Given the description of an element on the screen output the (x, y) to click on. 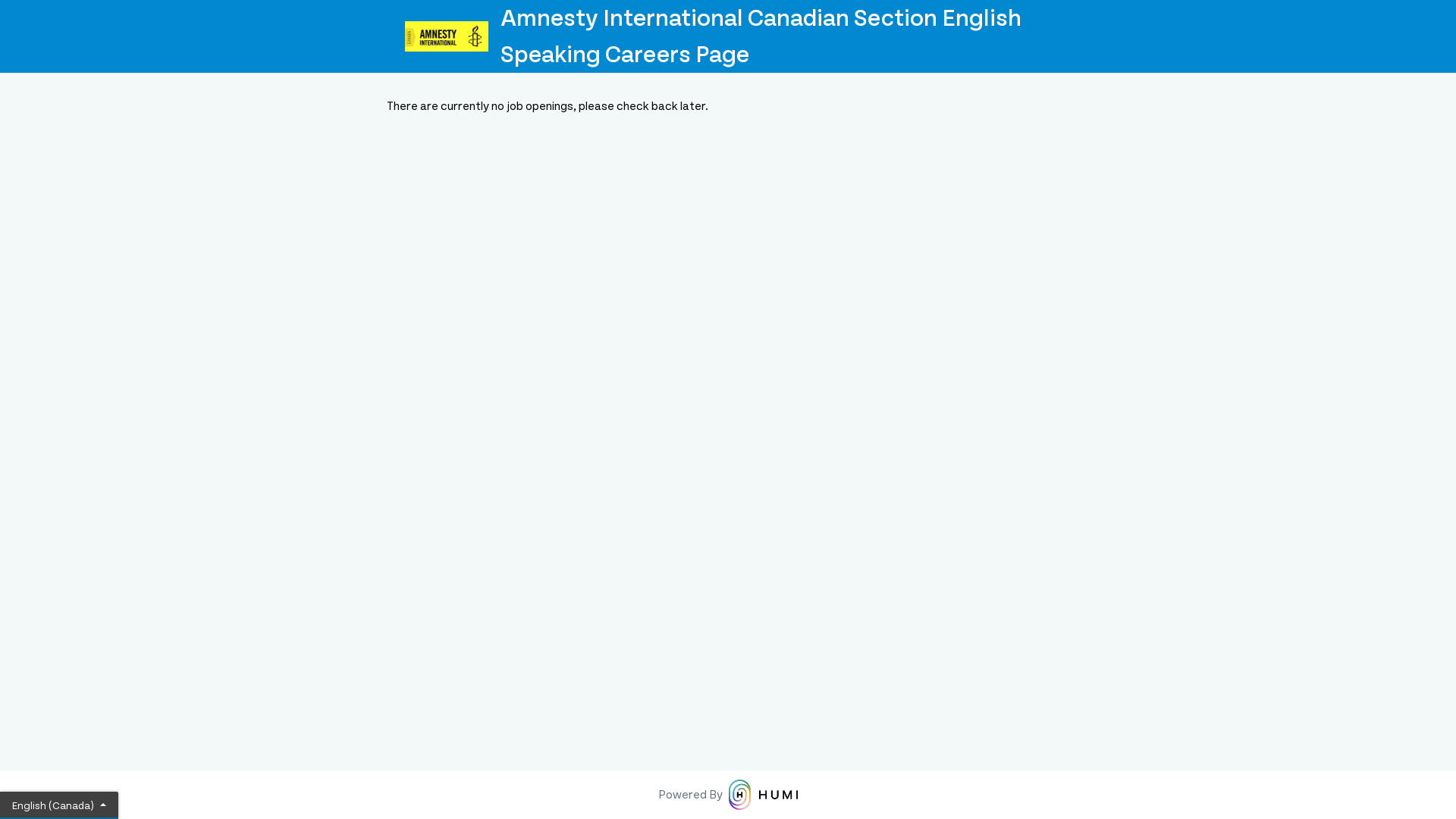
Powered By Element type: text (727, 794)
